Given the description of an element on the screen output the (x, y) to click on. 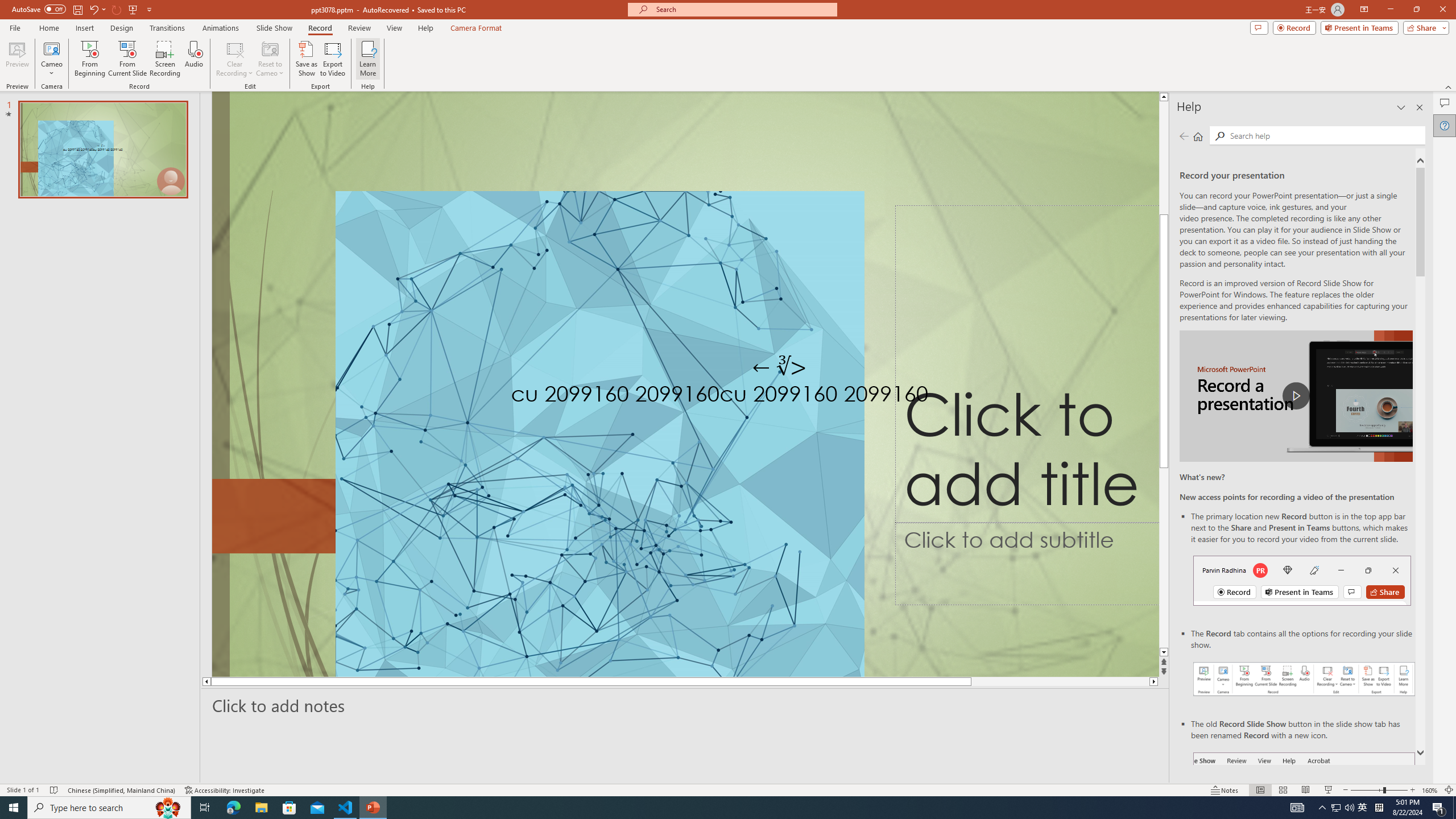
Screen Recording (165, 58)
Record button in top bar (1301, 580)
An abstract genetic concept (685, 383)
Zoom 160% (1430, 790)
